Given the description of an element on the screen output the (x, y) to click on. 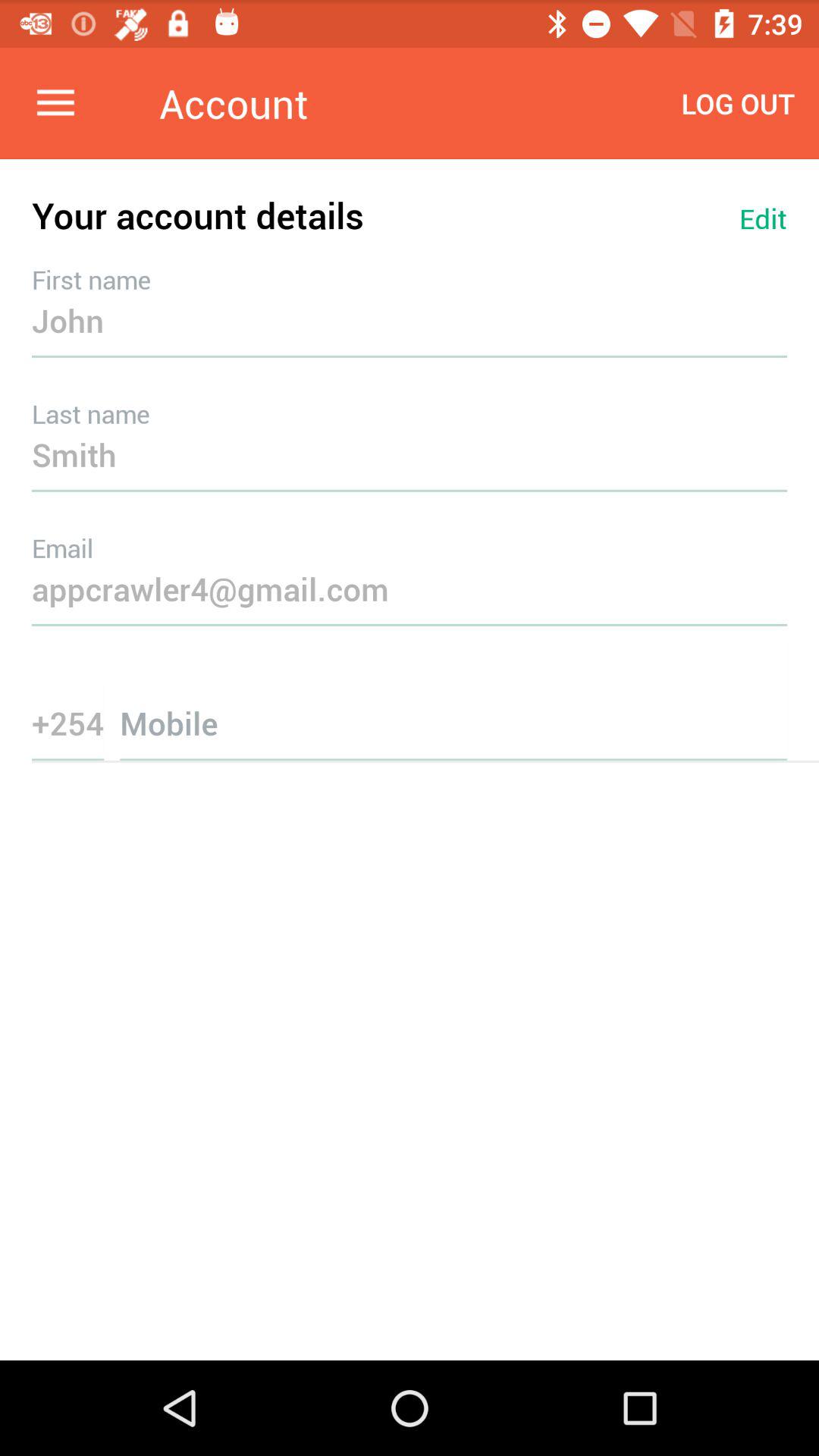
launch the item next to the account item (55, 103)
